Given the description of an element on the screen output the (x, y) to click on. 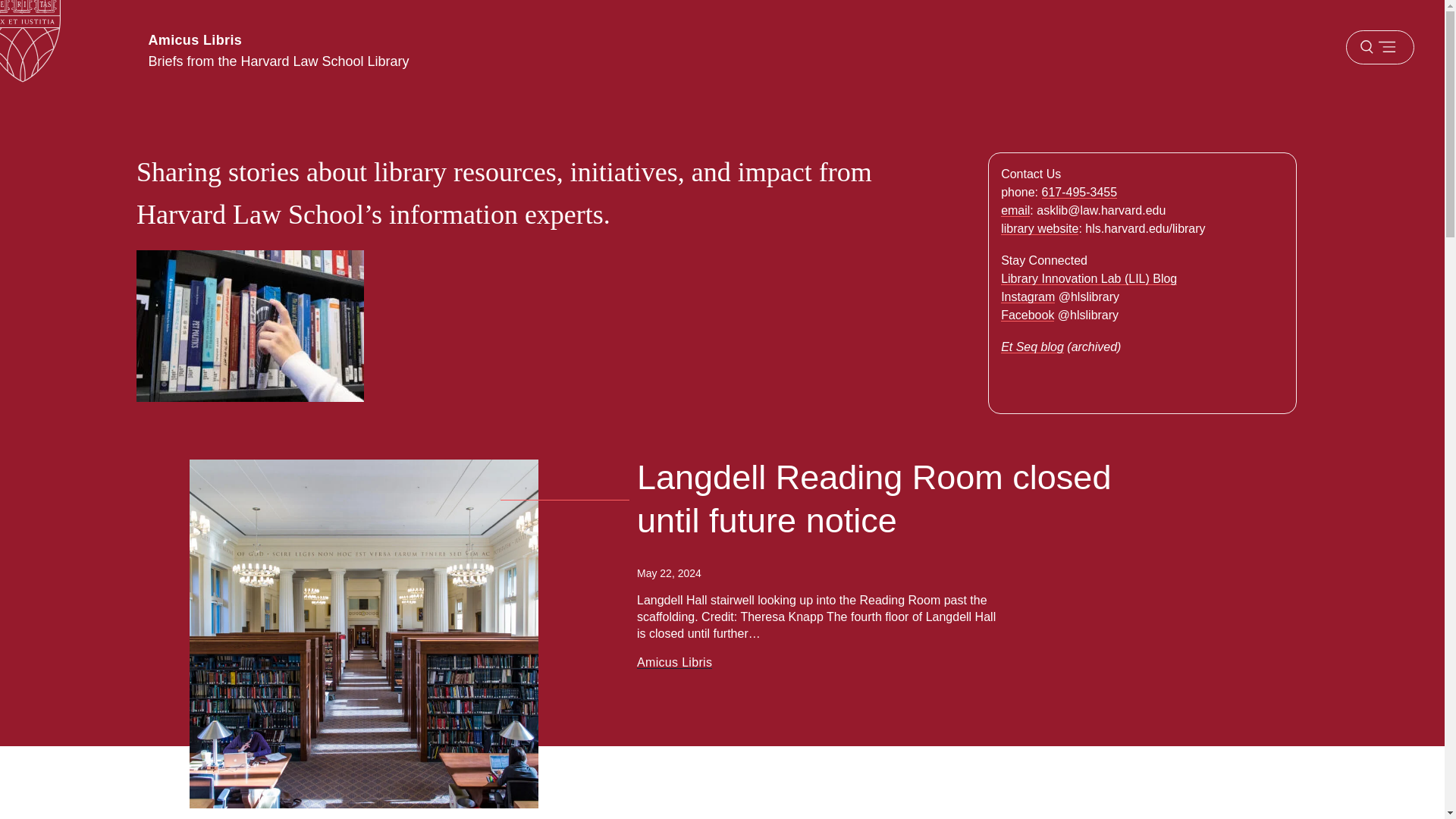
Open menu (1379, 47)
